Given the description of an element on the screen output the (x, y) to click on. 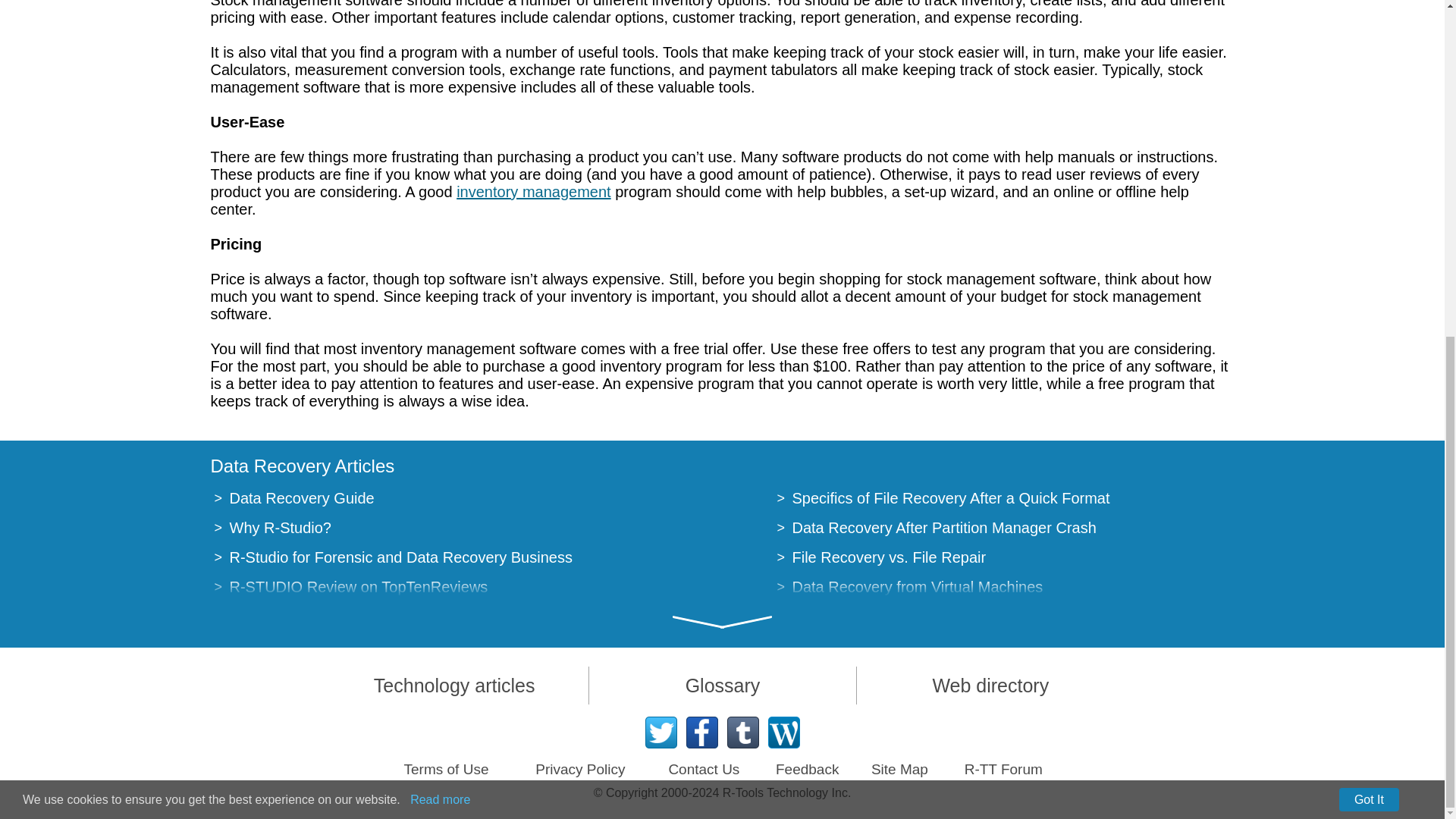
Data Recovery Guide (301, 497)
Wordpress (783, 732)
Facebook (701, 732)
Why R-Studio? (279, 527)
Twitter (661, 732)
Tumblr (742, 732)
inventory management (533, 191)
